Given the description of an element on the screen output the (x, y) to click on. 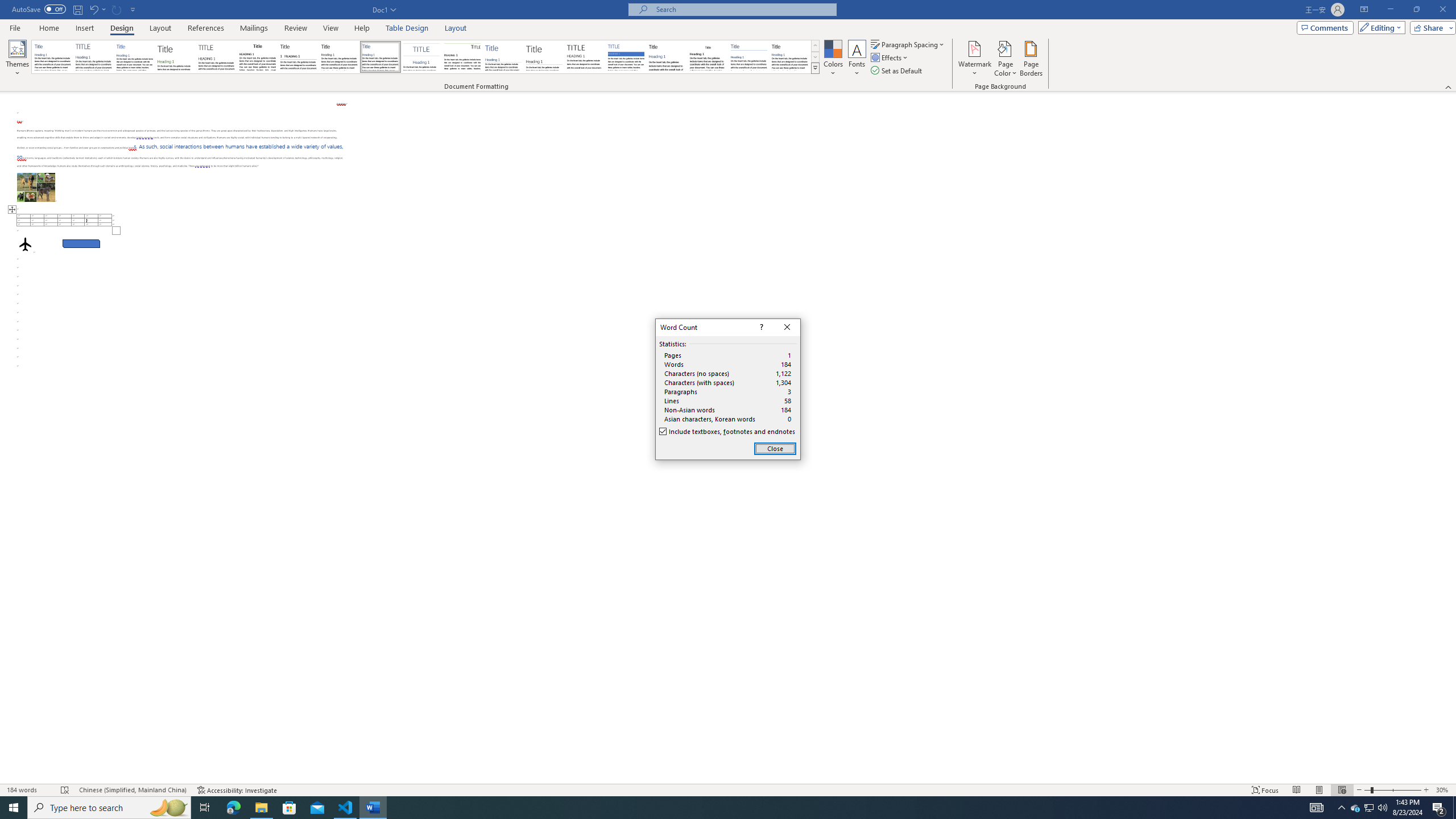
Page Color (1005, 58)
Undo Apply Quick Style Set (92, 9)
Zoom 30% (1443, 790)
Word (666, 56)
Black & White (Classic) (257, 56)
Black & White (Word 2013) (338, 56)
